Given the description of an element on the screen output the (x, y) to click on. 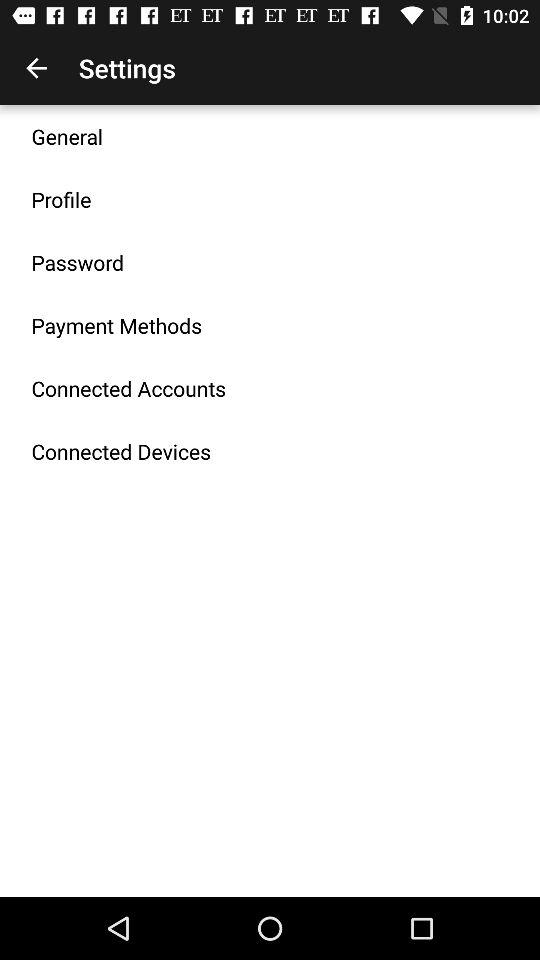
choose item above payment methods (77, 262)
